Given the description of an element on the screen output the (x, y) to click on. 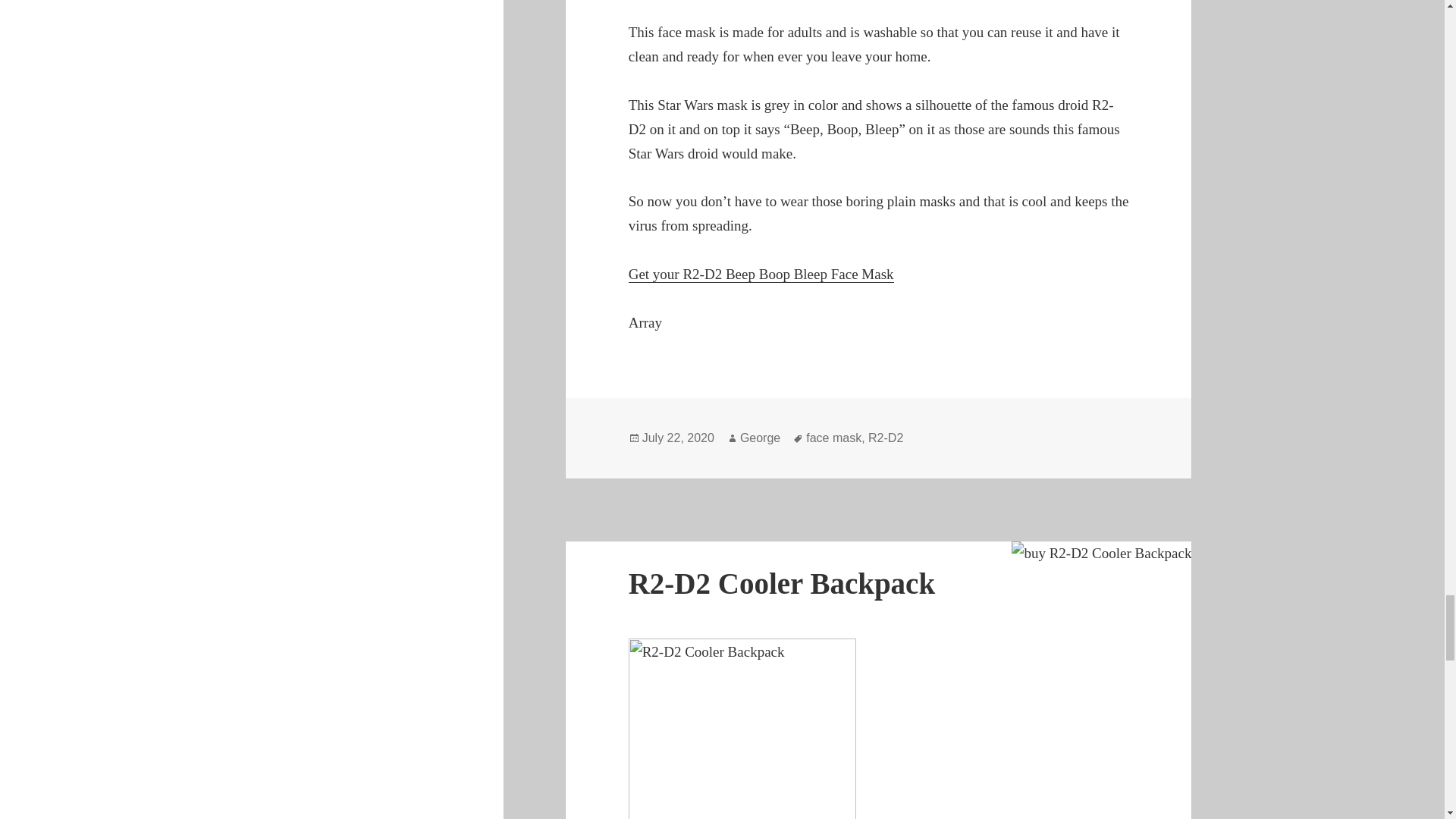
buy R2-D2 Cooler Backpack (1101, 553)
